Given the description of an element on the screen output the (x, y) to click on. 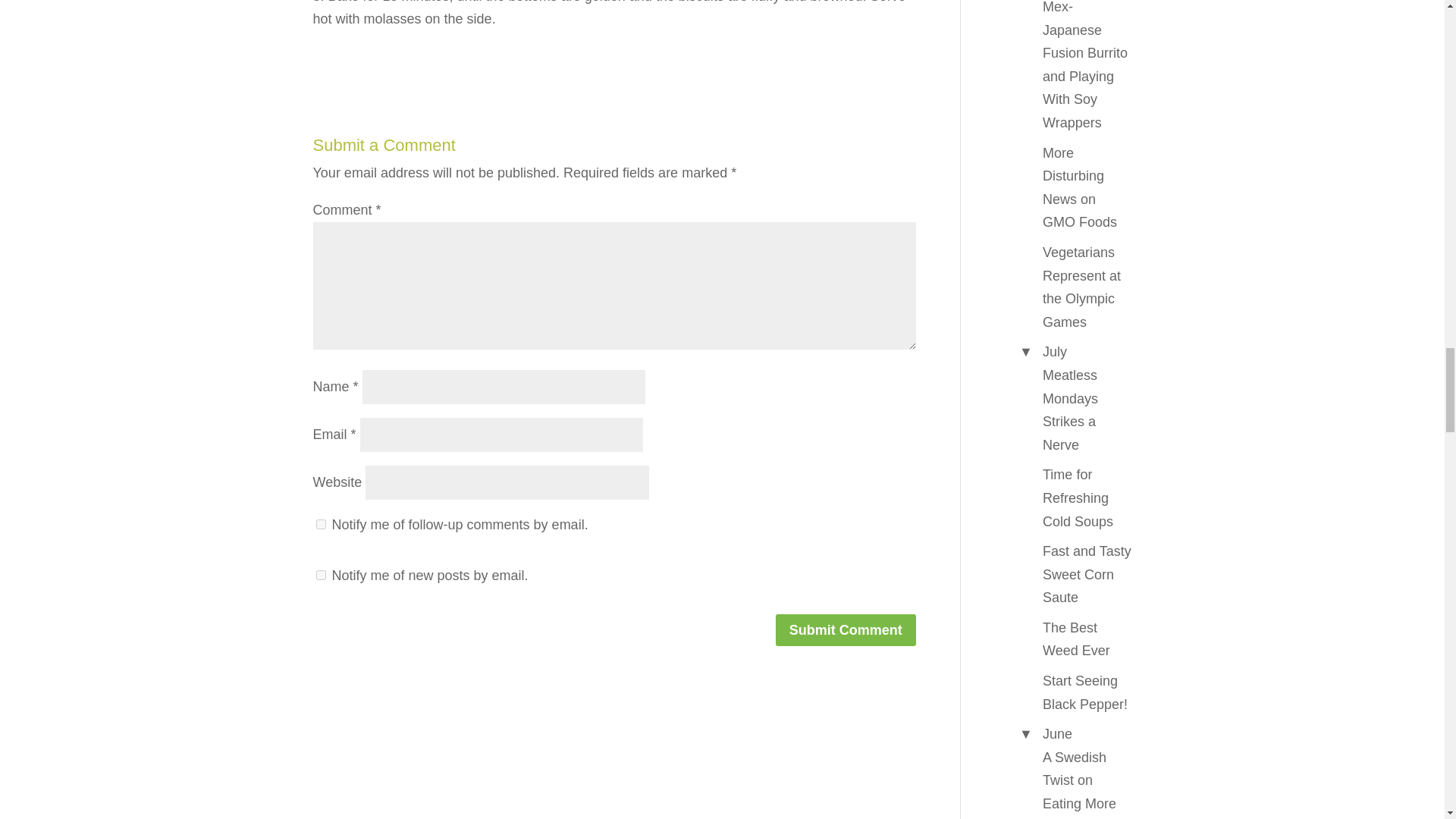
Submit Comment (845, 629)
Submit Comment (845, 629)
subscribe (319, 574)
subscribe (319, 524)
